Given the description of an element on the screen output the (x, y) to click on. 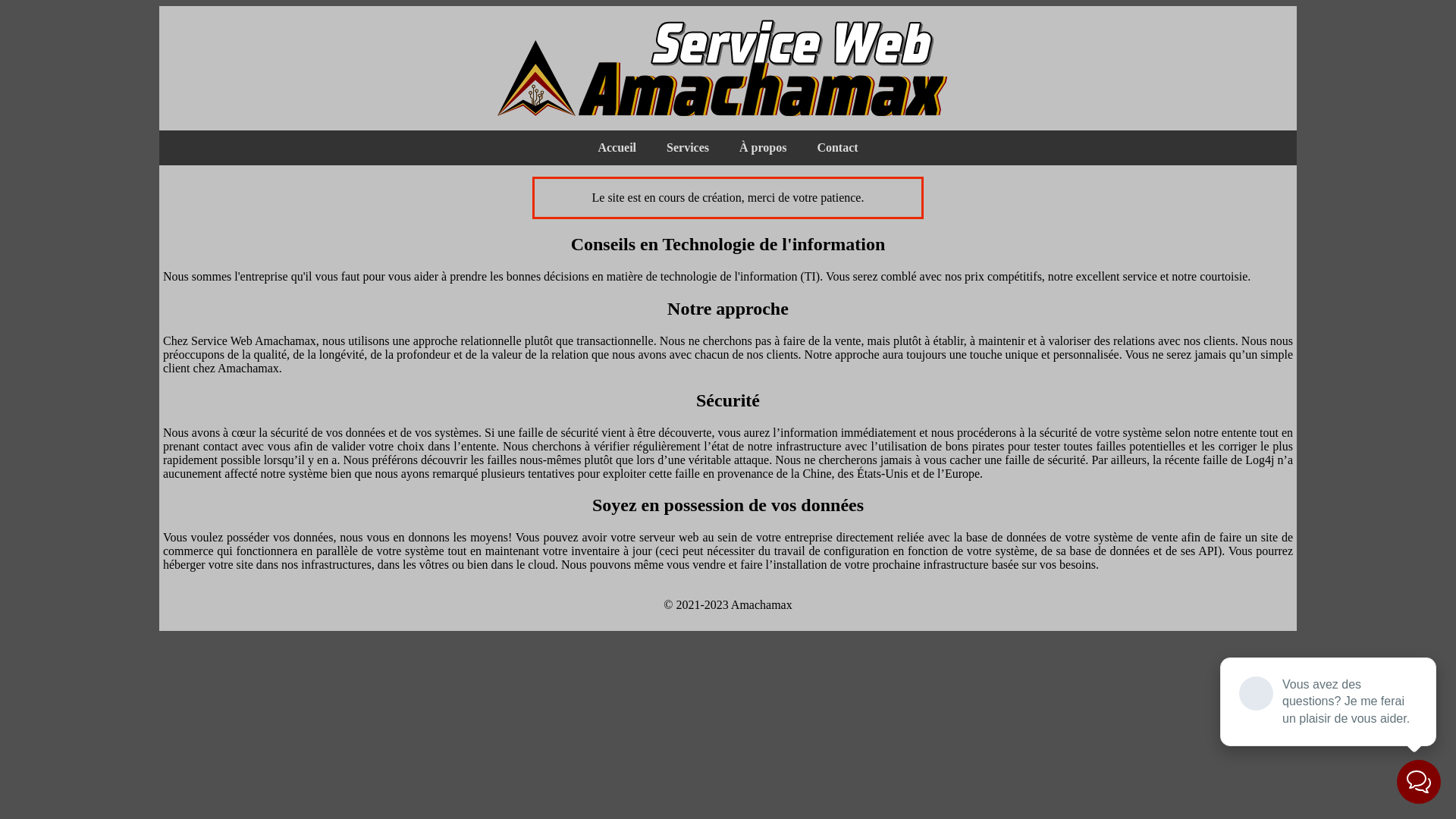
Services Element type: text (687, 147)
Contact Element type: text (836, 147)
Accueil Element type: text (616, 147)
